Given the description of an element on the screen output the (x, y) to click on. 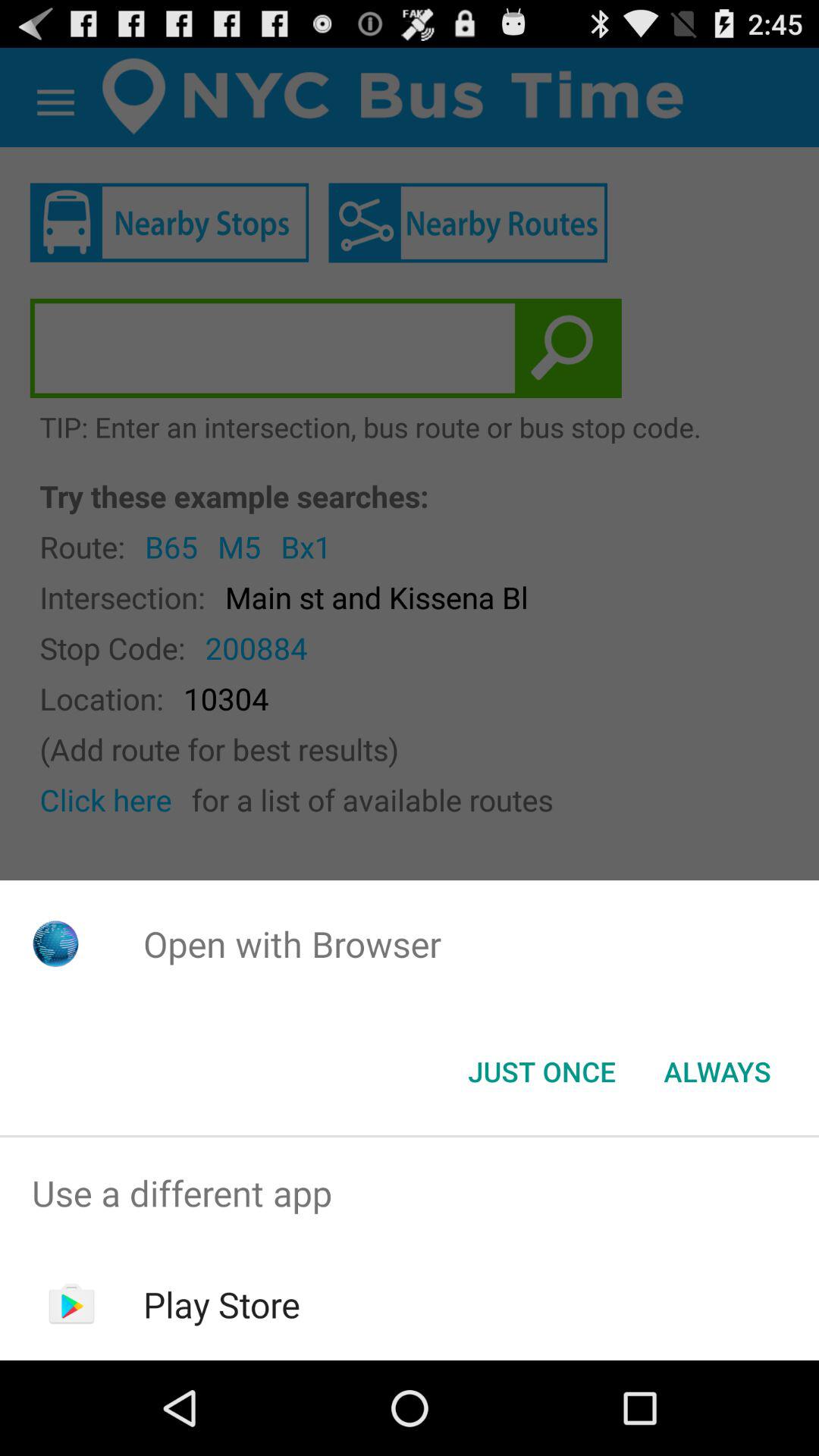
tap the just once (541, 1071)
